Given the description of an element on the screen output the (x, y) to click on. 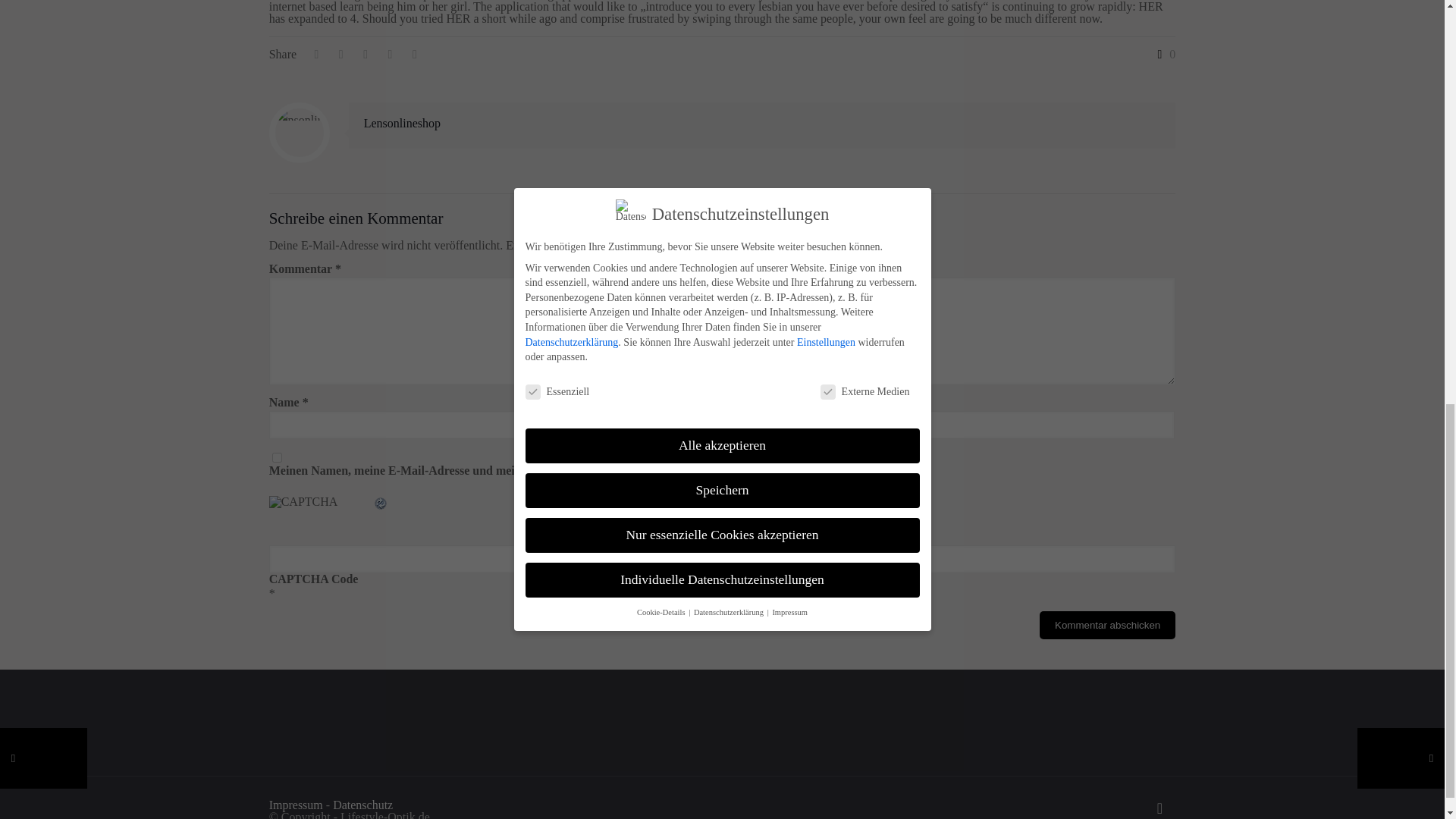
Kommentar abschicken (1106, 624)
Refresh (381, 504)
yes (277, 457)
CAPTCHA (320, 512)
Impressum (296, 804)
Lensonlineshop (402, 123)
Datenschutz (363, 804)
0 (1162, 54)
Kommentar abschicken (1106, 624)
